Given the description of an element on the screen output the (x, y) to click on. 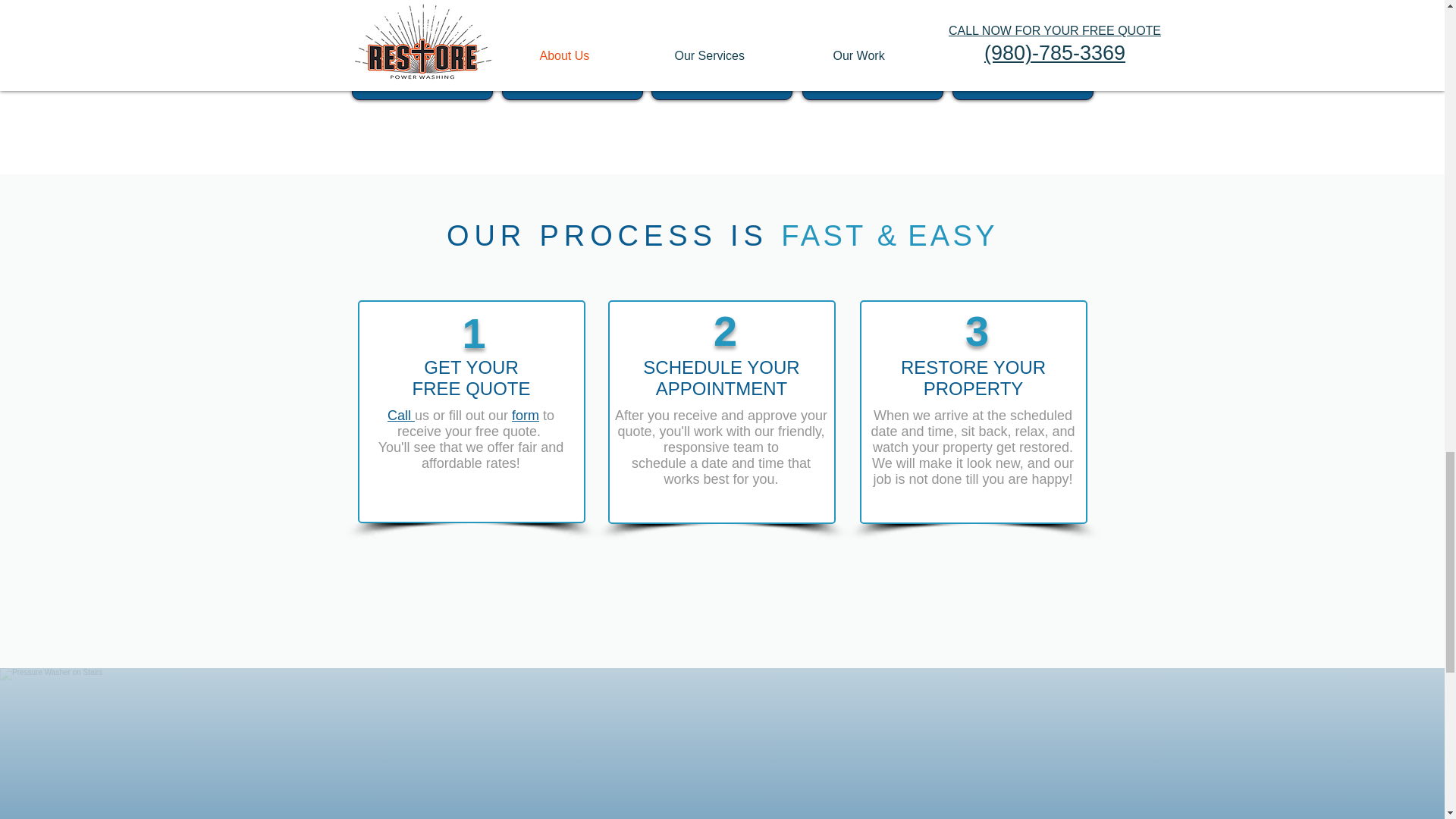
form (525, 415)
Call  (400, 415)
